Given the description of an element on the screen output the (x, y) to click on. 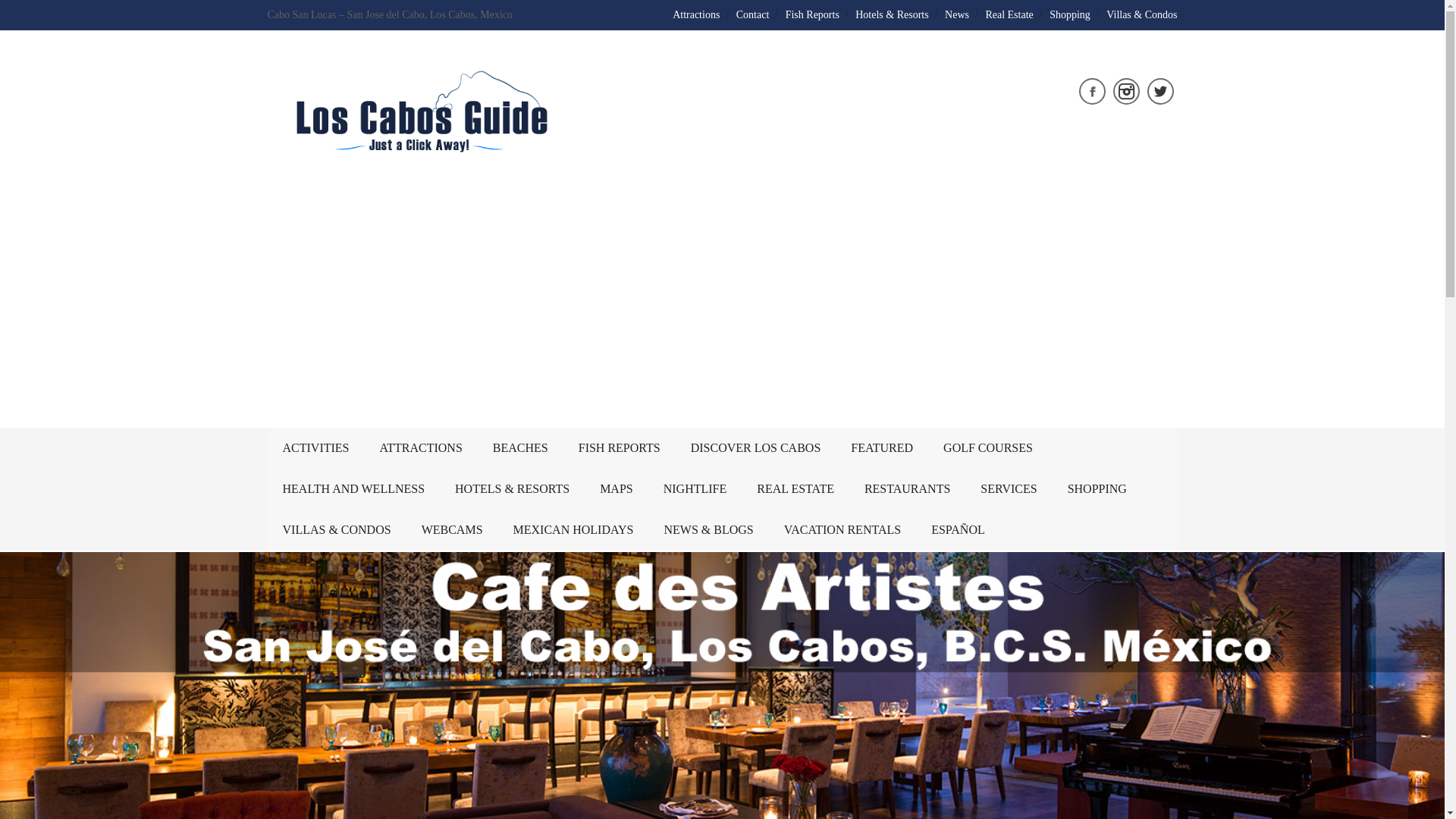
ACTIVITIES (315, 447)
News (956, 14)
ATTRACTIONS (420, 447)
Contact (753, 14)
Shopping (1069, 14)
Los Cabos Guide (418, 148)
Real Estate (1008, 14)
Attractions (695, 14)
Fish Reports (813, 14)
